Given the description of an element on the screen output the (x, y) to click on. 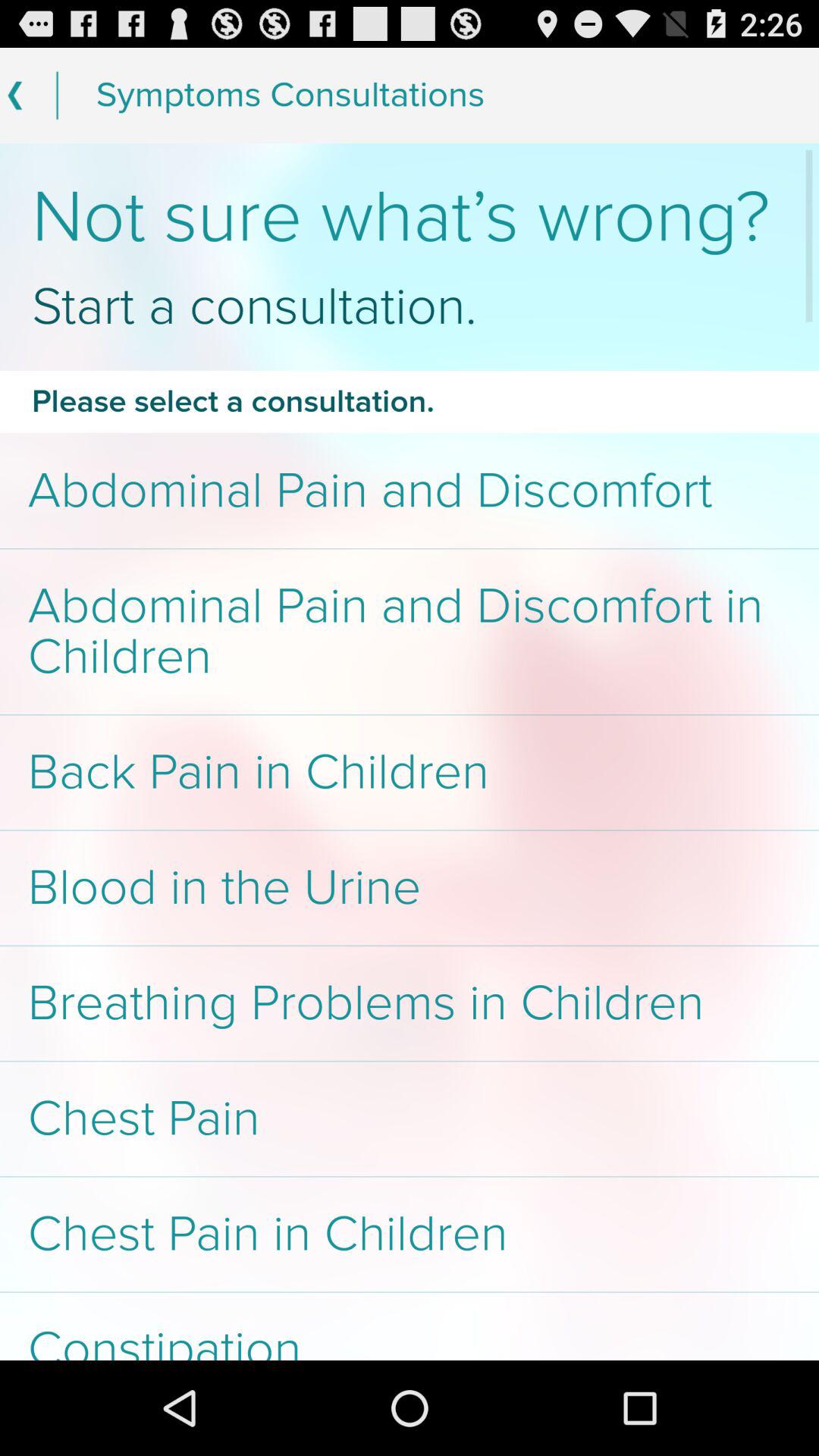
launch the breathing problems in (409, 1003)
